Given the description of an element on the screen output the (x, y) to click on. 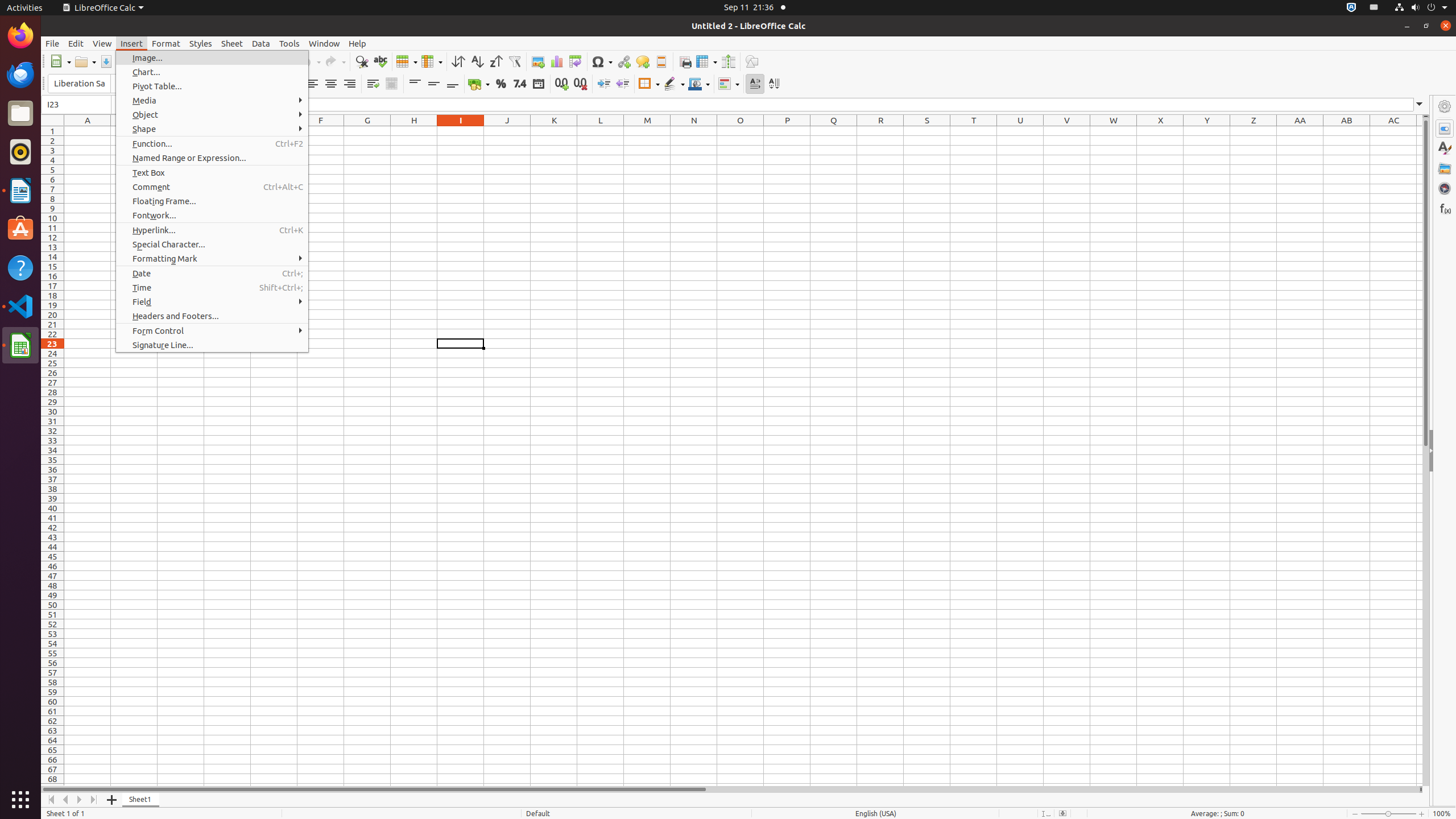
V1 Element type: table-cell (1066, 130)
Edit Element type: menu (75, 43)
Activities Element type: label (24, 7)
P1 Element type: table-cell (786, 130)
